Given the description of an element on the screen output the (x, y) to click on. 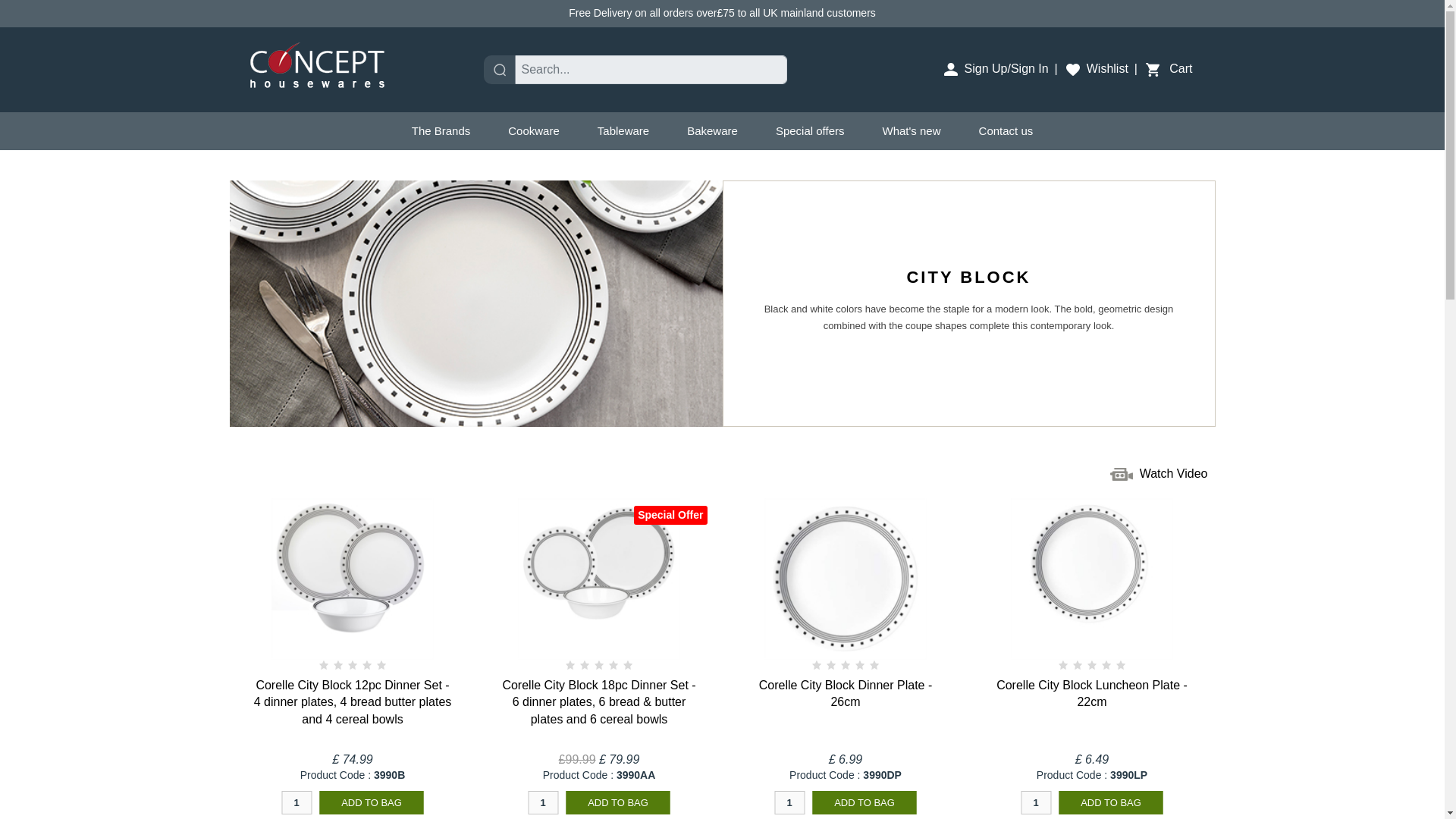
tableware-menu (623, 130)
1 (789, 802)
bakeware-menu (712, 130)
Add this product to your favourites (352, 816)
cookware-menu (533, 130)
Add this product to your favourites (844, 816)
Add this product to your favourites (598, 816)
1 (542, 802)
1 (1035, 802)
1 (296, 802)
